Given the description of an element on the screen output the (x, y) to click on. 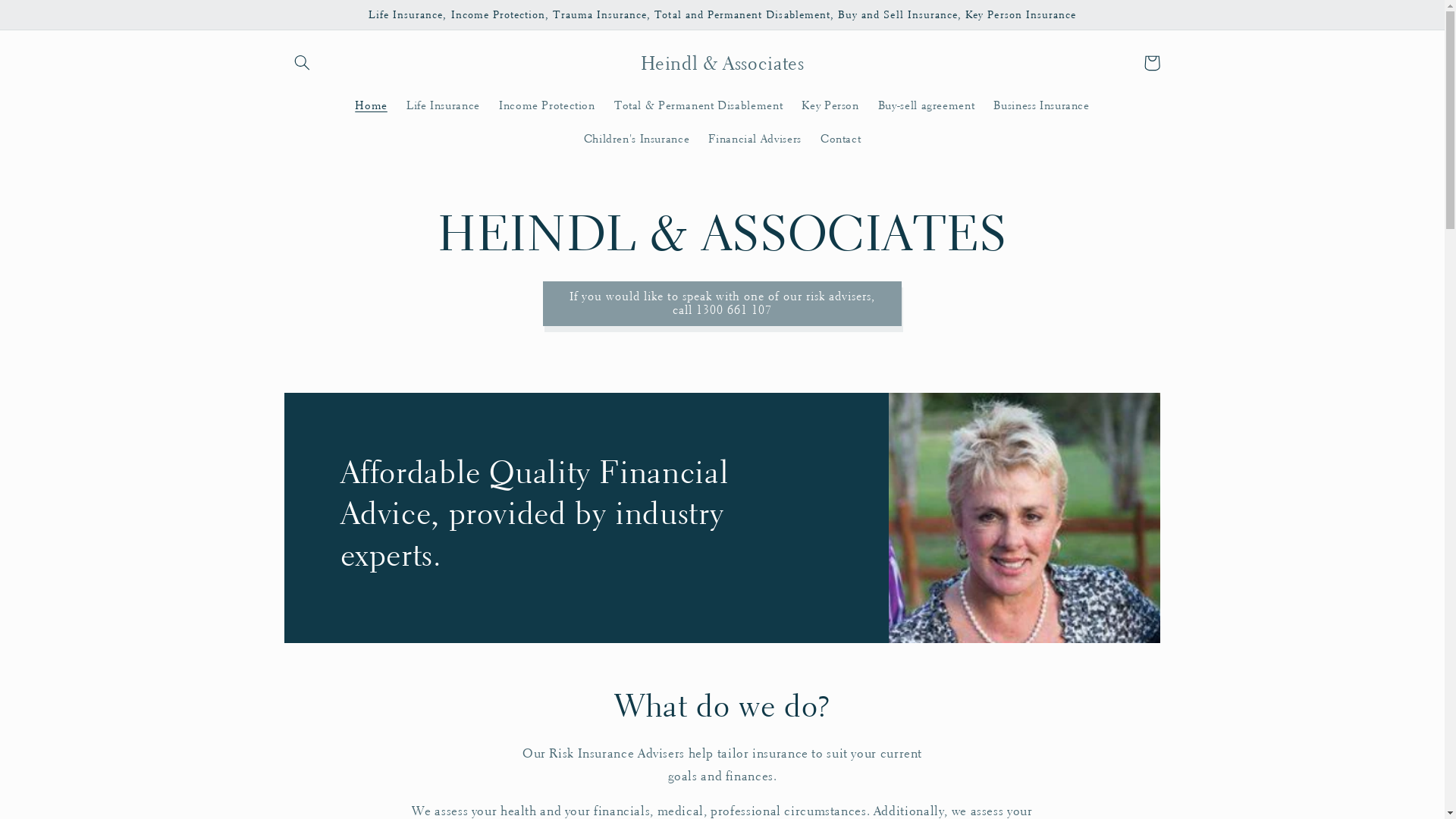
Total & Permanent Disablement Element type: text (697, 105)
Key Person Element type: text (830, 105)
Life Insurance Element type: text (442, 105)
Heindl & Associates Element type: text (722, 62)
Business Insurance Element type: text (1041, 105)
Buy-sell agreement Element type: text (926, 105)
Financial Advisers Element type: text (755, 138)
Income Protection Element type: text (546, 105)
Home Element type: text (371, 105)
Cart Element type: text (1151, 62)
Contact Element type: text (840, 138)
Children's Insurance Element type: text (636, 138)
